Given the description of an element on the screen output the (x, y) to click on. 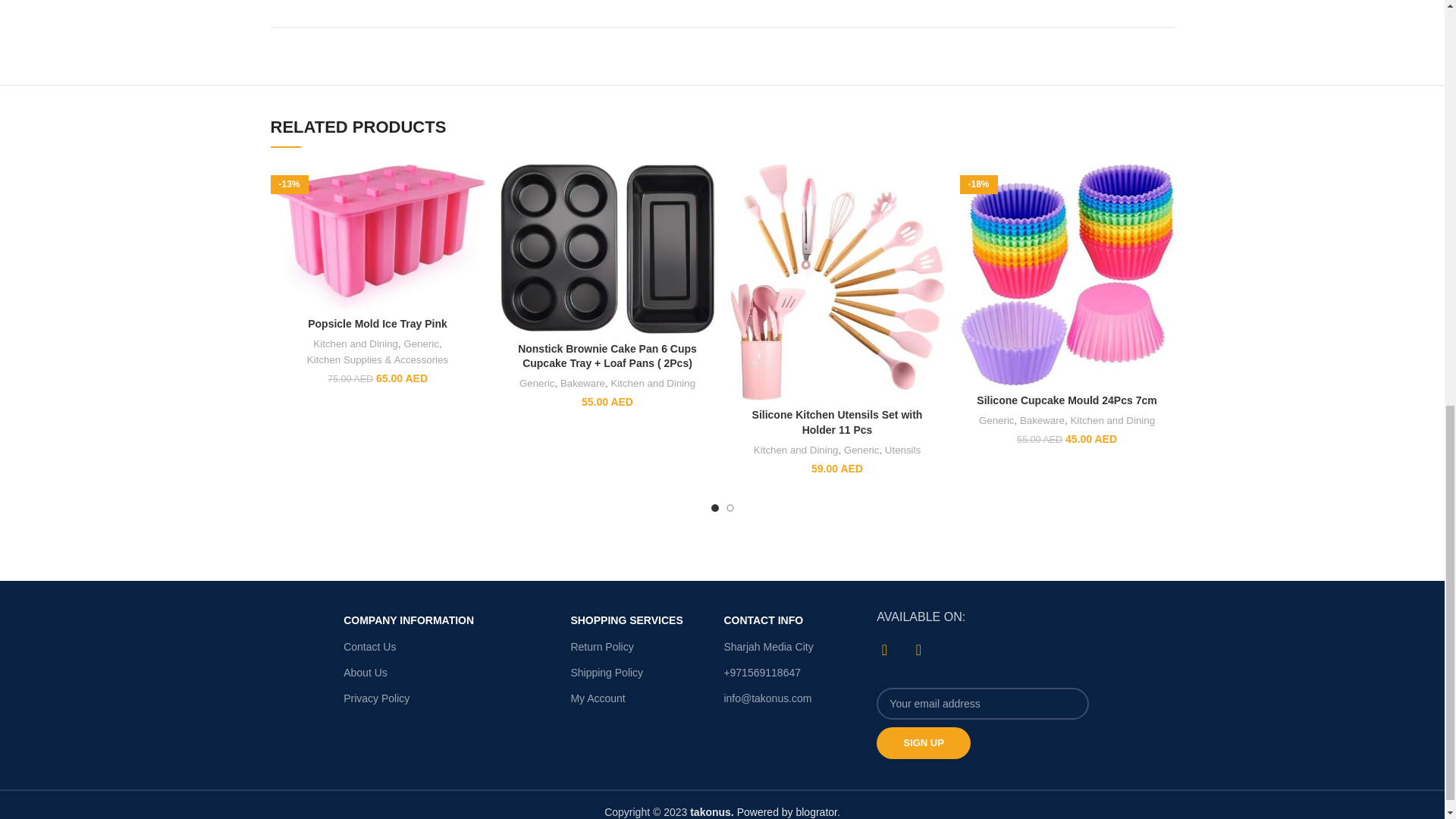
Sign up (922, 743)
